Given the description of an element on the screen output the (x, y) to click on. 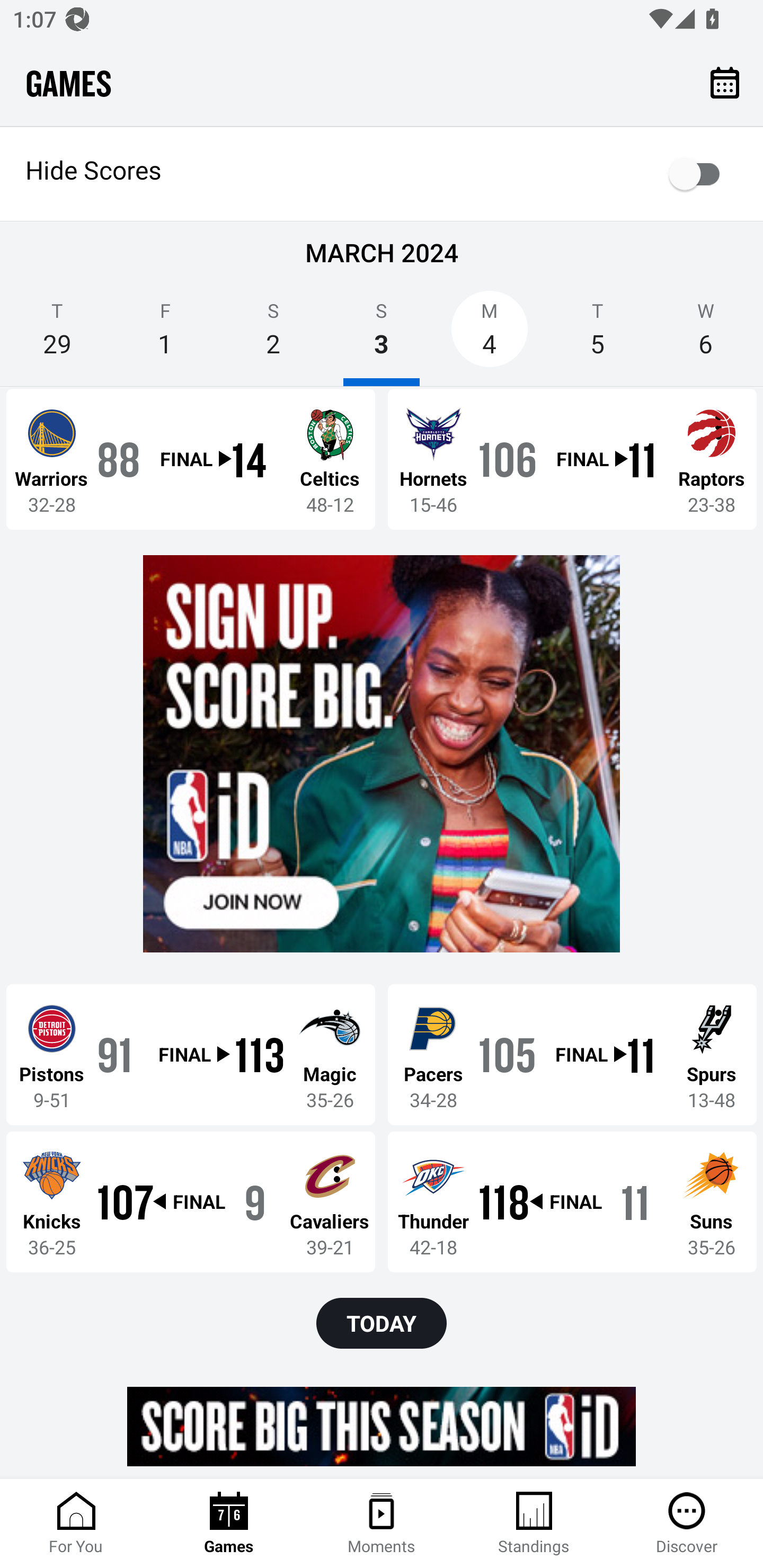
Calendar (724, 81)
Hide Scores (381, 174)
T 29 (57, 334)
F 1 (165, 334)
S 2 (273, 334)
S 3 (381, 334)
M 4 (489, 334)
T 5 (597, 334)
W 6 (705, 334)
TODAY (381, 1323)
For You (76, 1523)
Moments (381, 1523)
Standings (533, 1523)
Discover (686, 1523)
